Given the description of an element on the screen output the (x, y) to click on. 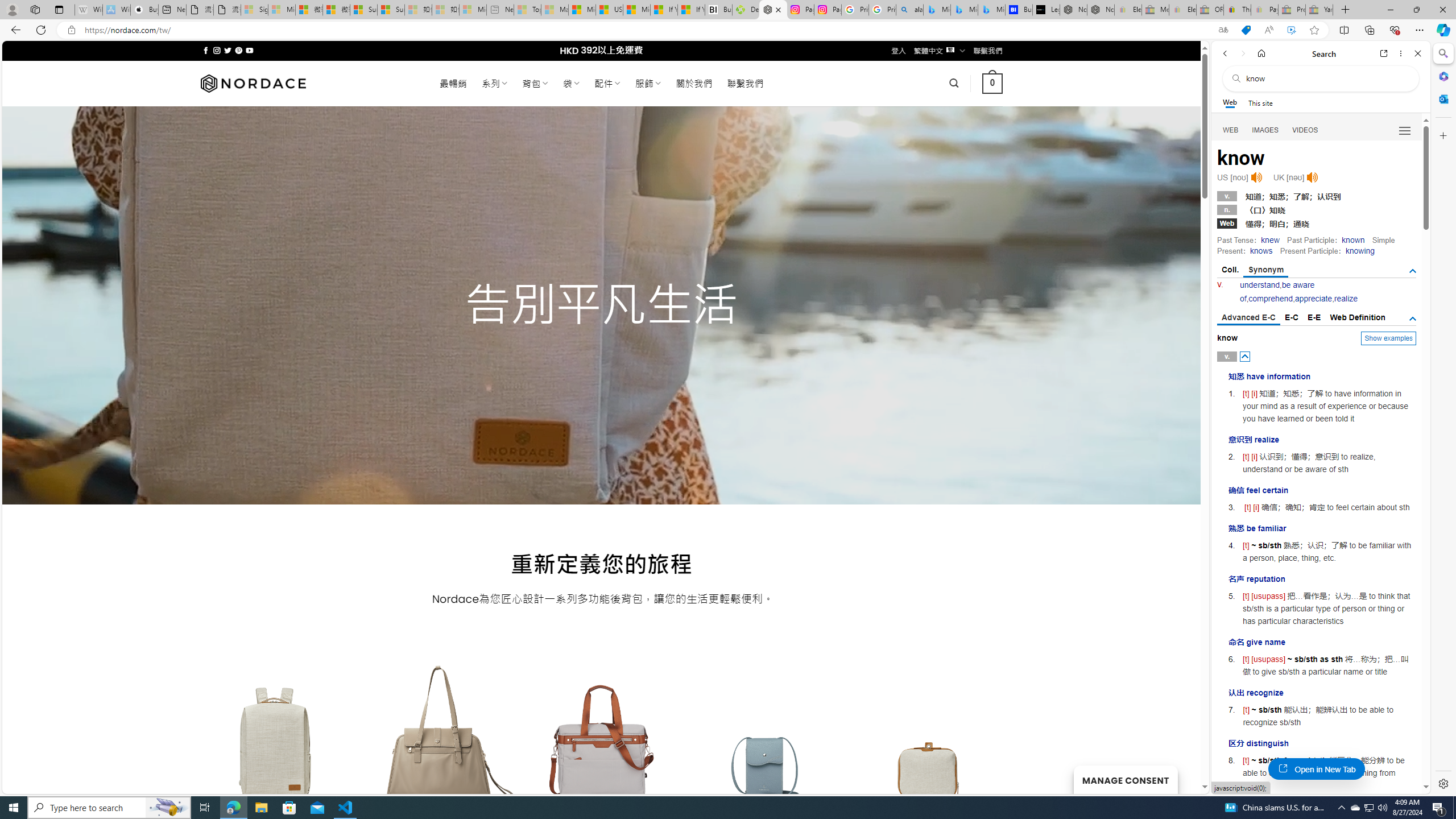
Marine life - MSN - Sleeping (554, 9)
Advanced E-C (1248, 318)
Top Stories - MSN - Sleeping (527, 9)
E-E (1314, 317)
